Given the description of an element on the screen output the (x, y) to click on. 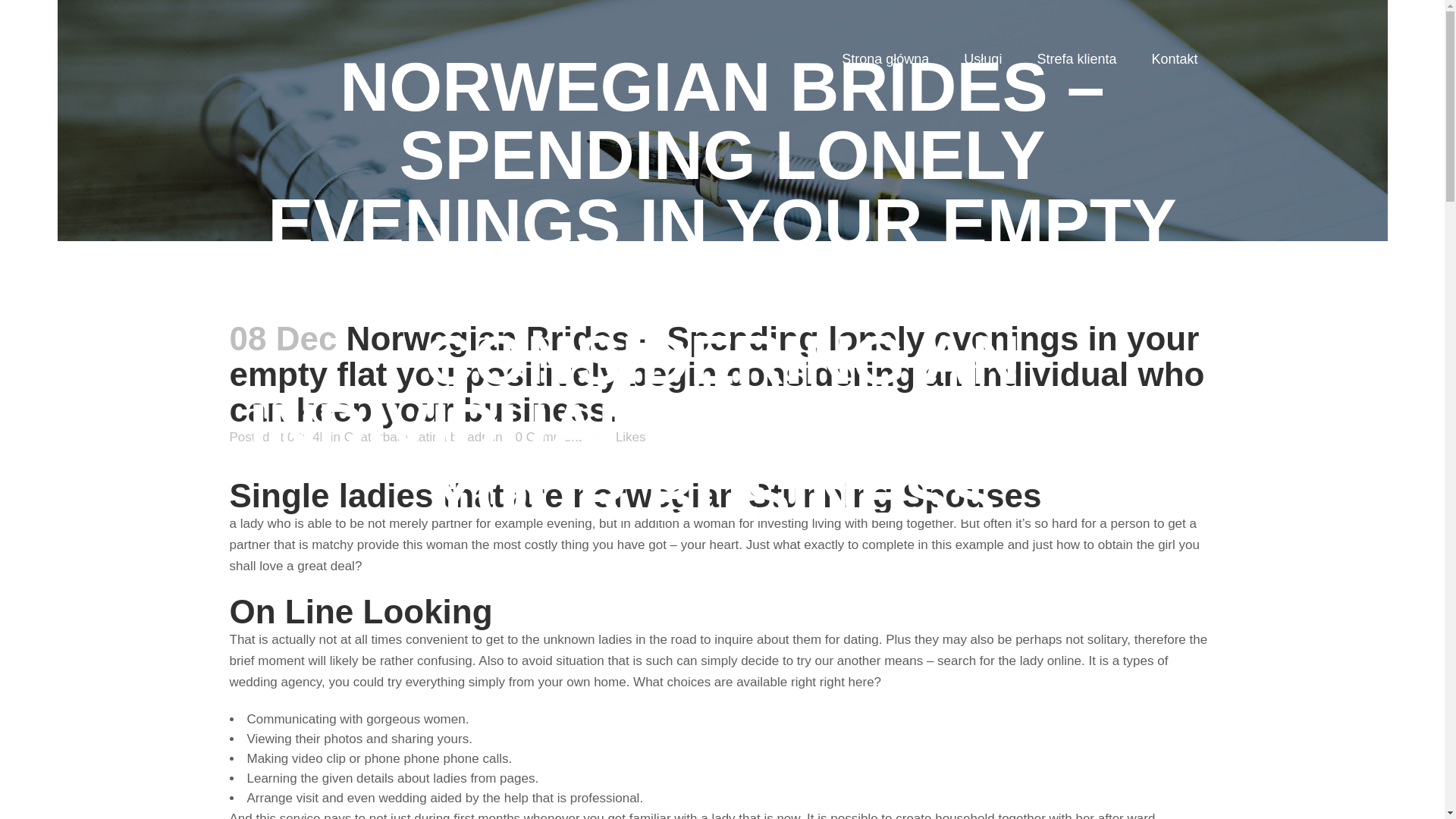
0 Comments (551, 436)
admin (484, 436)
Strefa klienta (1076, 59)
Chaturbate Latina (394, 436)
0 Likes (624, 437)
Like this (624, 437)
